Given the description of an element on the screen output the (x, y) to click on. 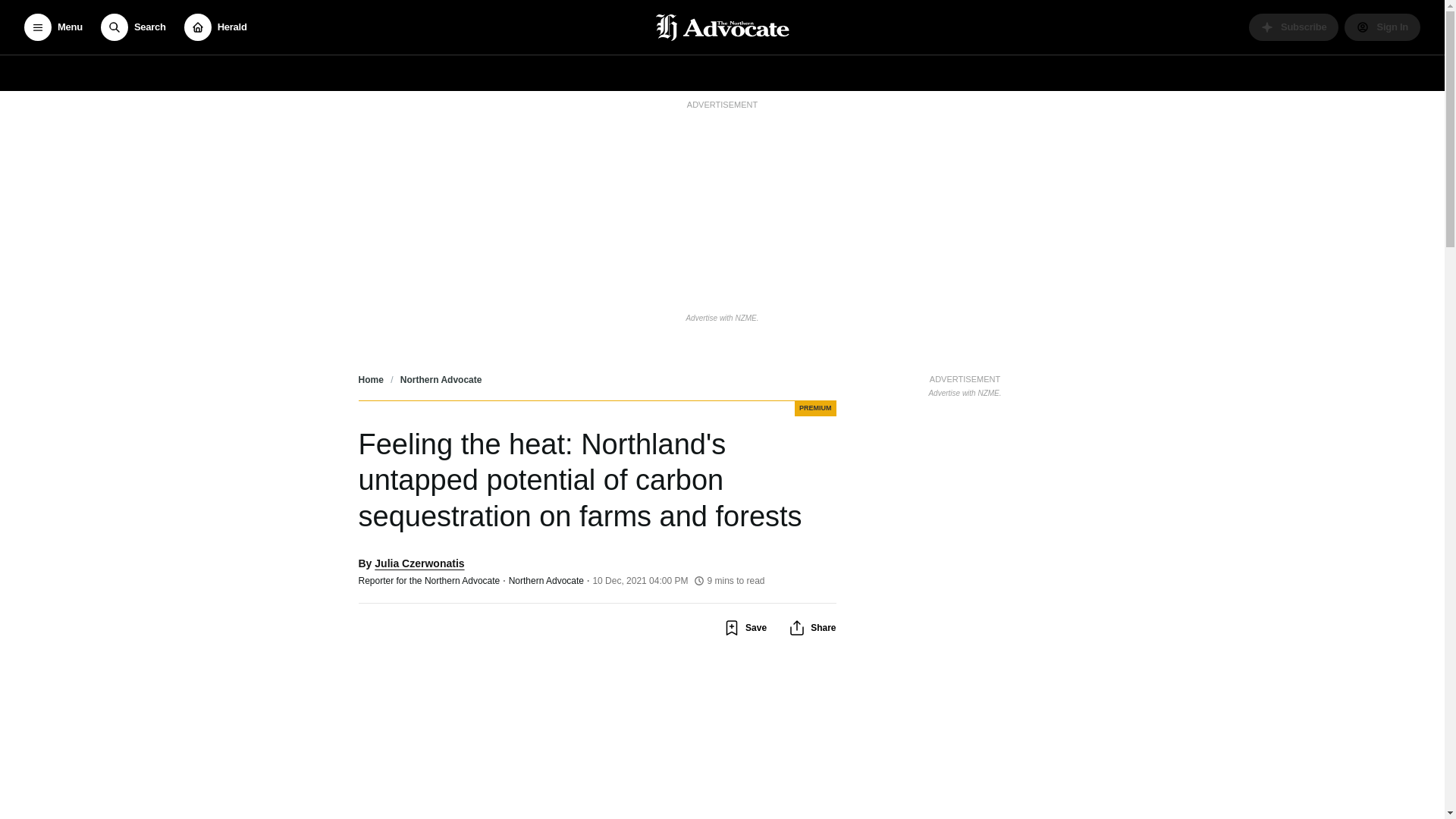
Herald (215, 26)
Menu (53, 26)
Sign In (1382, 26)
Manage your account (1382, 26)
Search (132, 26)
Subscribe (1294, 26)
